Given the description of an element on the screen output the (x, y) to click on. 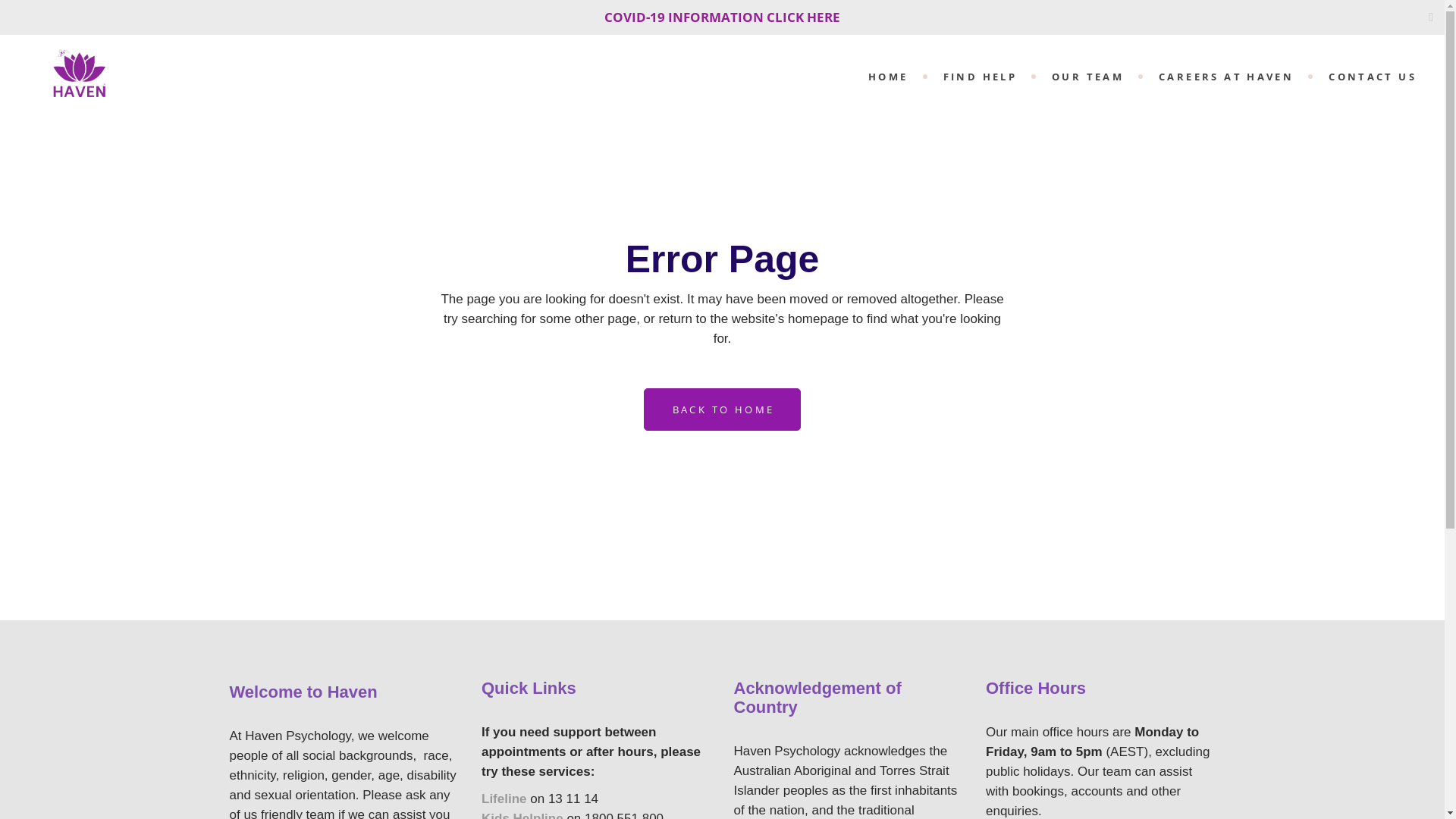
FIND HELP Element type: text (979, 76)
BACK TO HOME Element type: text (722, 409)
OUR TEAM Element type: text (1087, 76)
Lifeline Element type: text (504, 798)
HOME Element type: text (888, 76)
CLICK HERE Element type: text (803, 16)
CONTACT US Element type: text (1372, 76)
CAREERS AT HAVEN Element type: text (1225, 76)
